Given the description of an element on the screen output the (x, y) to click on. 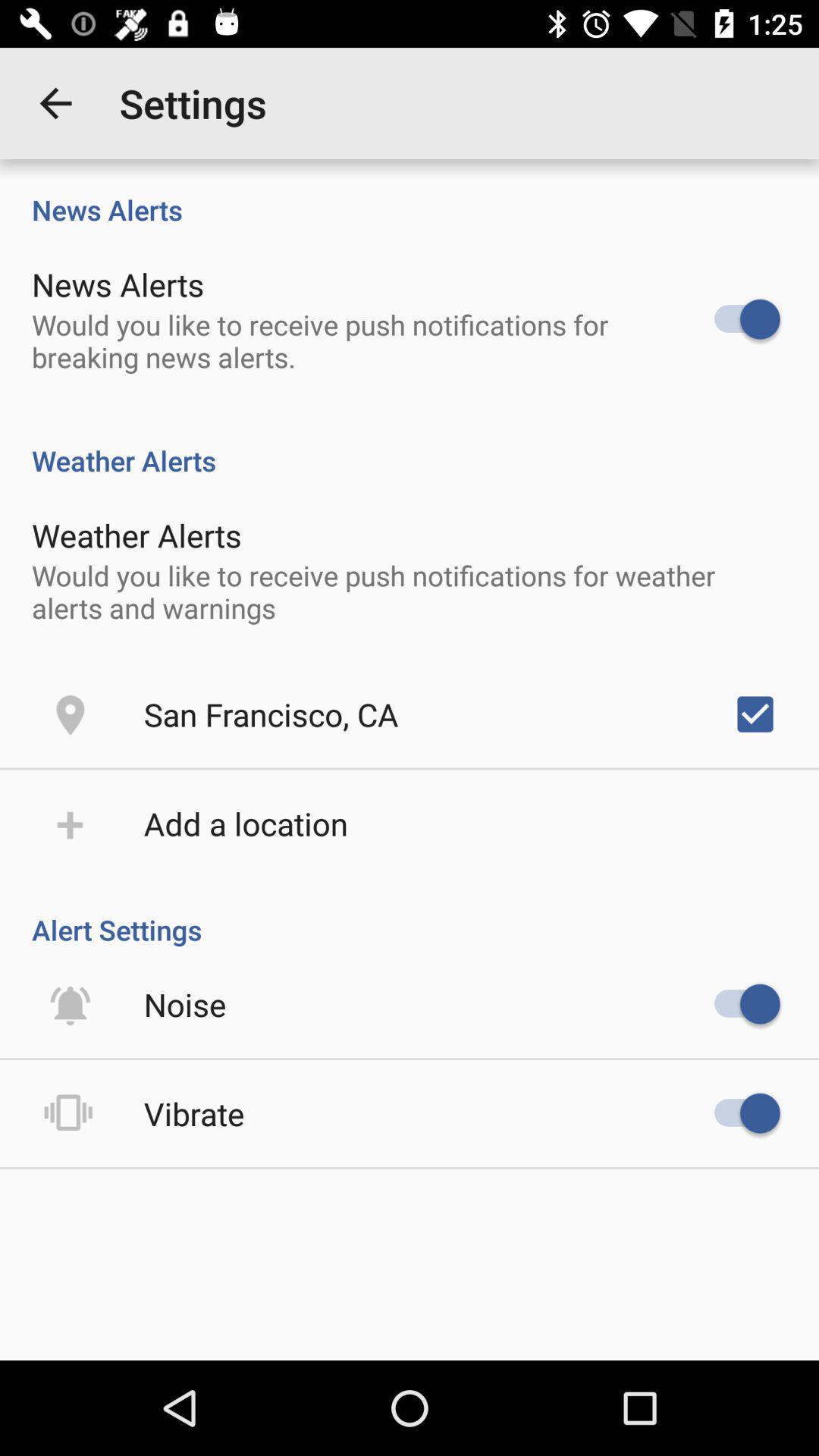
select the item below the noise (193, 1113)
